Given the description of an element on the screen output the (x, y) to click on. 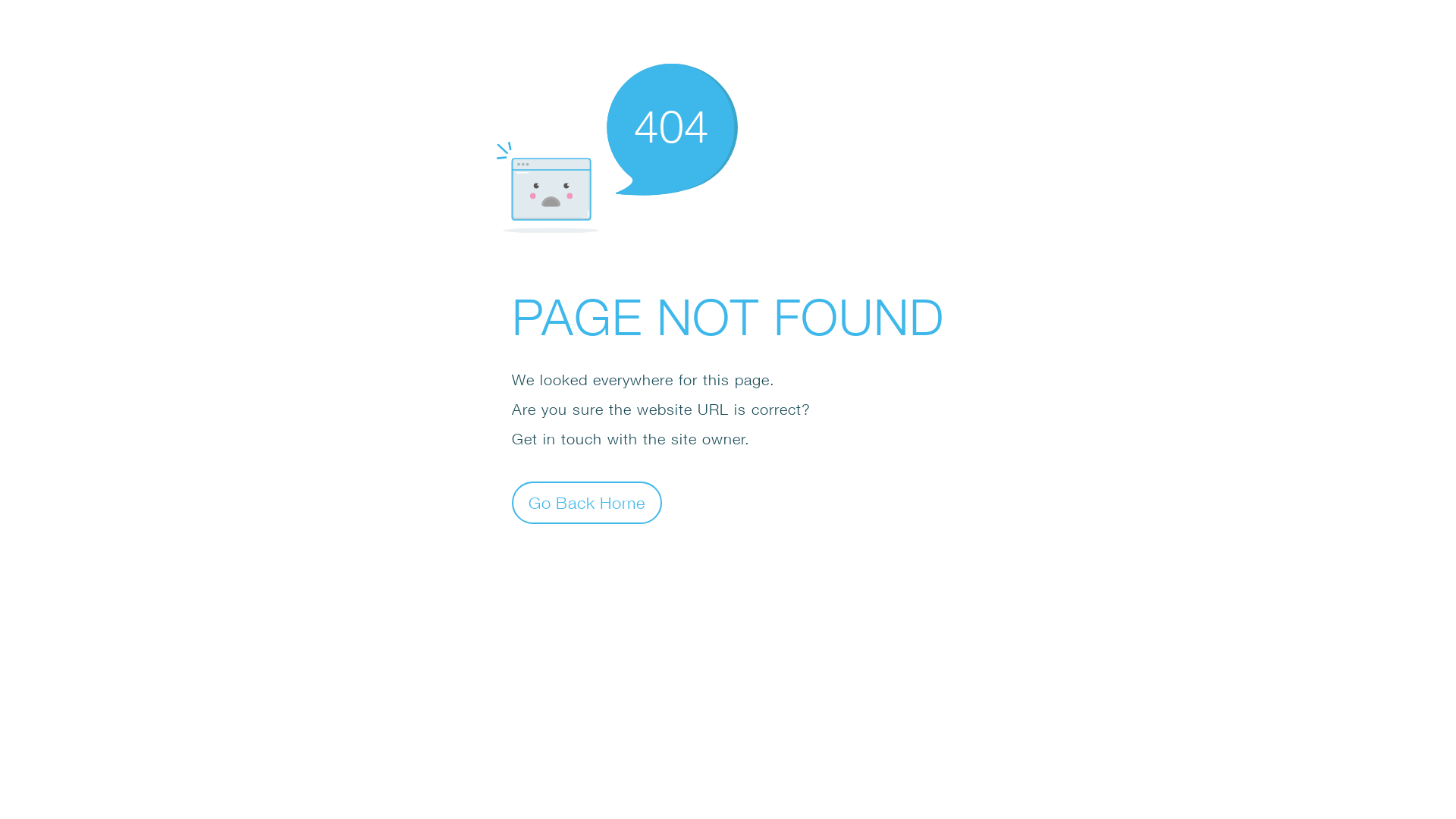
Go Back Home Element type: text (586, 502)
